Given the description of an element on the screen output the (x, y) to click on. 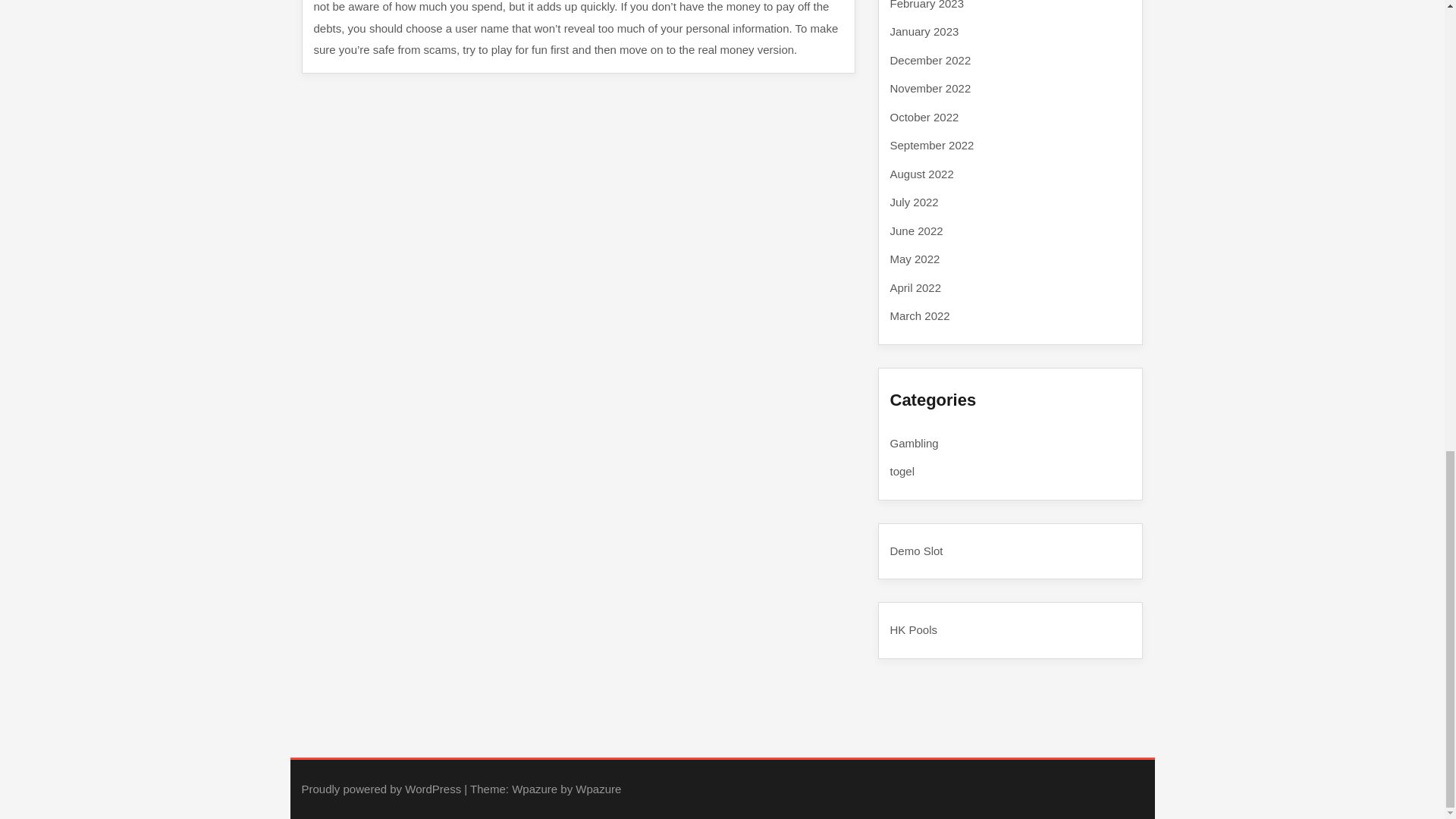
March 2022 (919, 315)
June 2022 (916, 230)
October 2022 (924, 116)
togel (902, 471)
February 2023 (926, 4)
April 2022 (915, 286)
September 2022 (931, 144)
May 2022 (914, 258)
Gambling (914, 442)
August 2022 (921, 173)
January 2023 (924, 31)
November 2022 (930, 88)
December 2022 (930, 59)
July 2022 (914, 201)
